Given the description of an element on the screen output the (x, y) to click on. 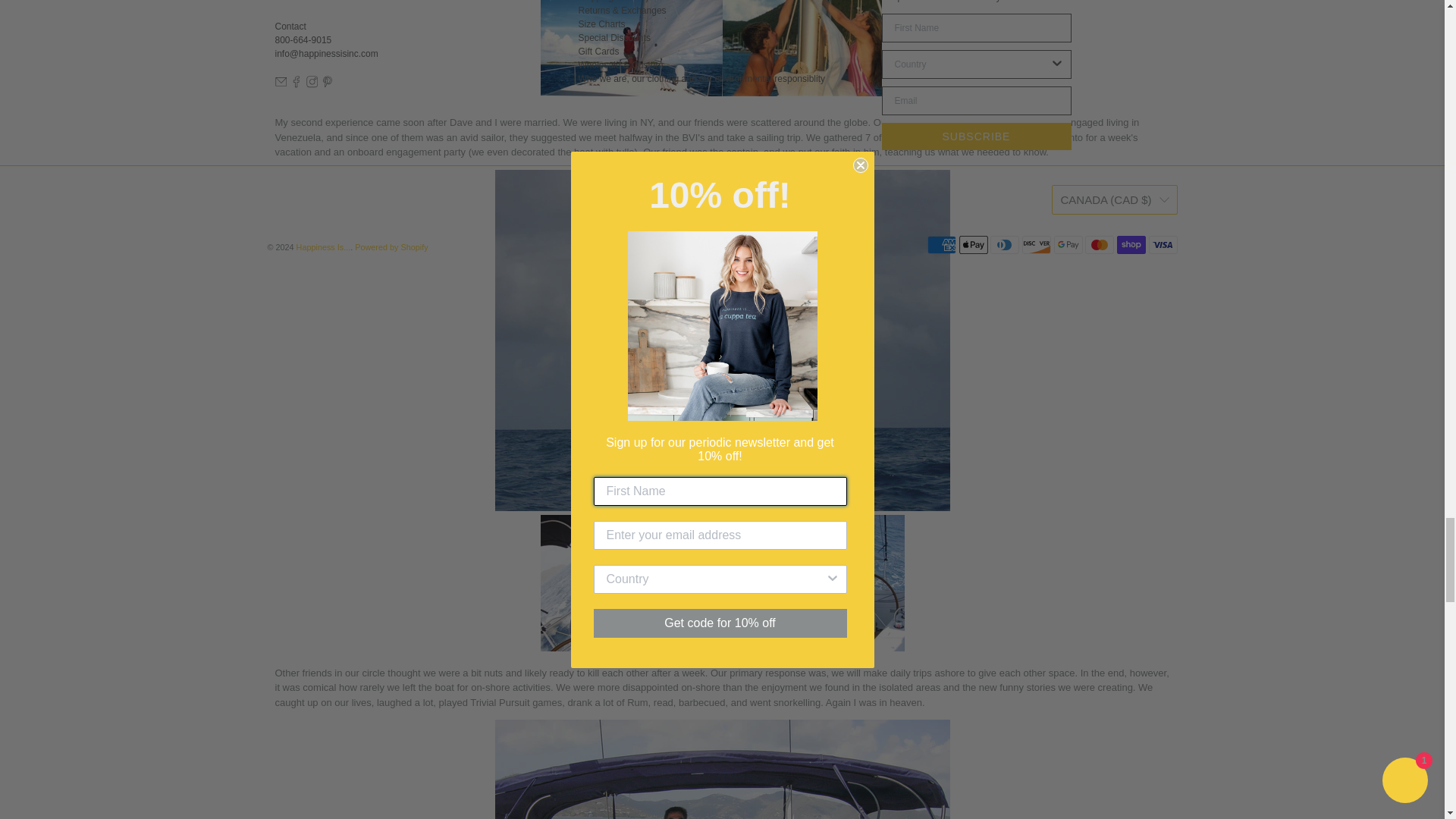
Happiness Is... (360, 9)
American Express (941, 244)
Contact (290, 26)
Apple Pay (973, 244)
